Given the description of an element on the screen output the (x, y) to click on. 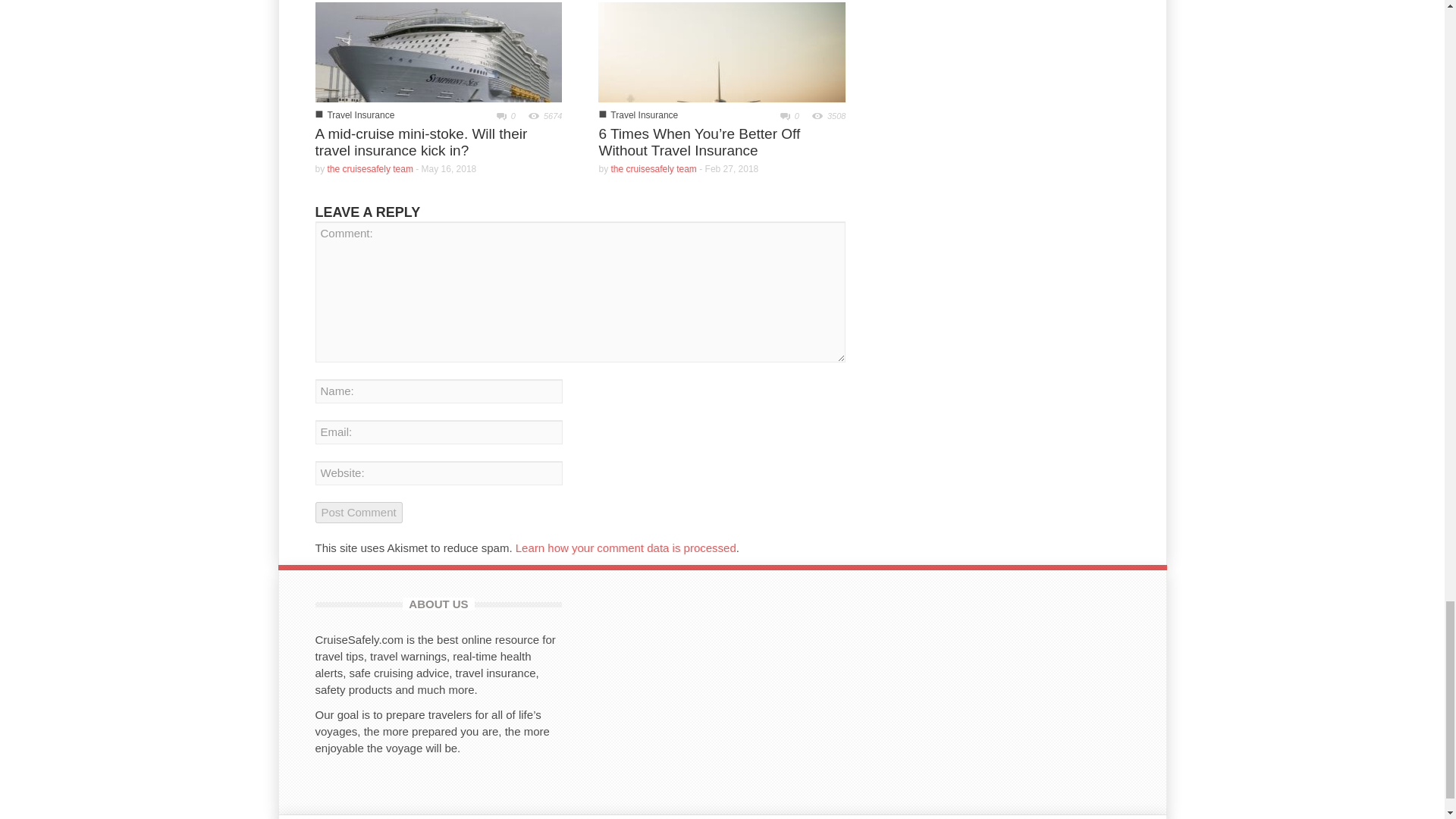
Post Comment (359, 512)
